Given the description of an element on the screen output the (x, y) to click on. 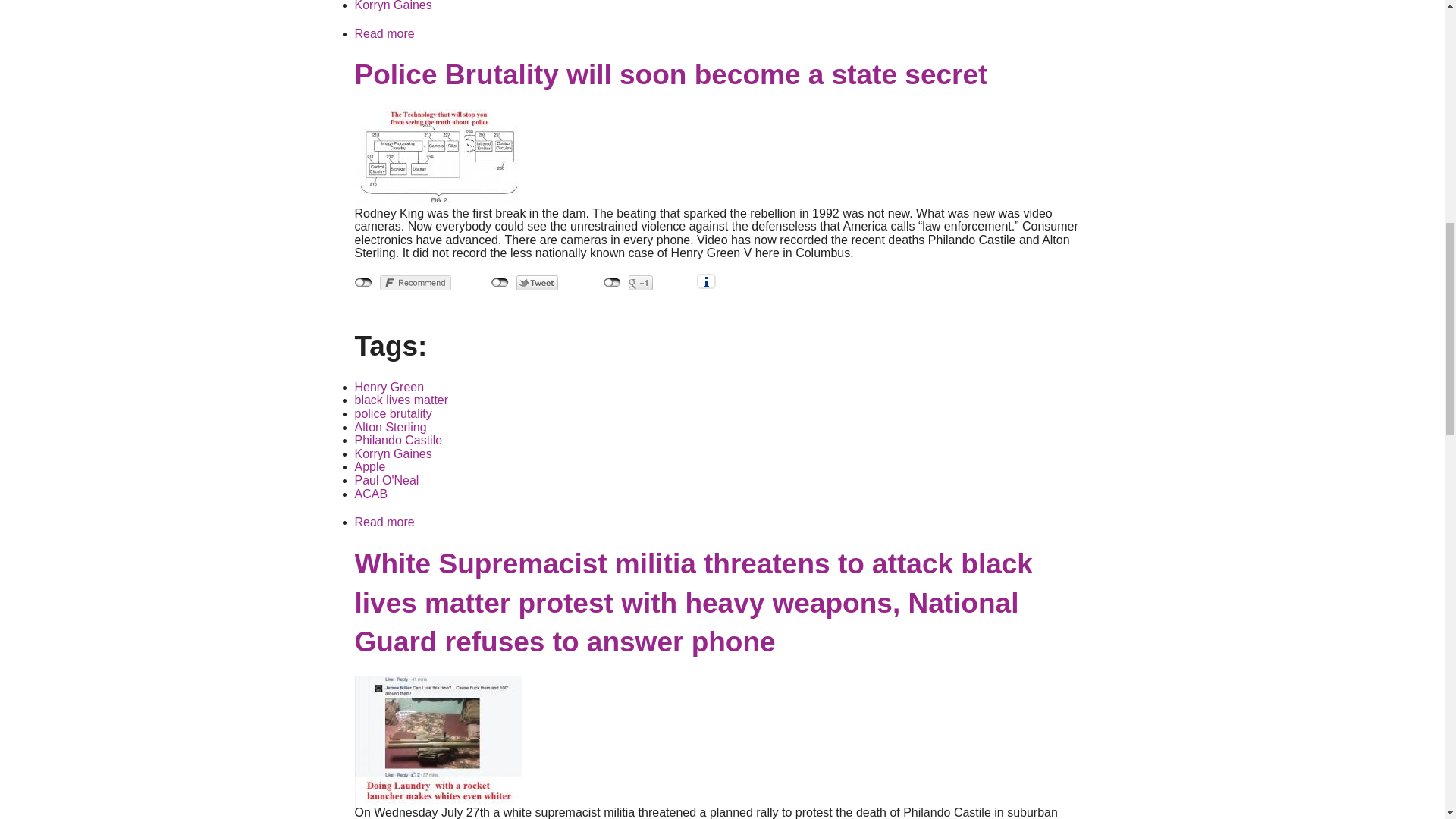
not connected to Twitter (500, 282)
Apple (370, 466)
ACAB (371, 493)
police brutality (393, 413)
Police Brutality will soon become a state secret (384, 521)
black lives matter (401, 399)
Henry Green (390, 386)
Paul O'Neal (387, 480)
Korryn Gaines (393, 5)
Alton Sterling (390, 427)
not connected to Facebook (363, 282)
Korryn Gaines (393, 453)
Philando Castile (398, 440)
